Given the description of an element on the screen output the (x, y) to click on. 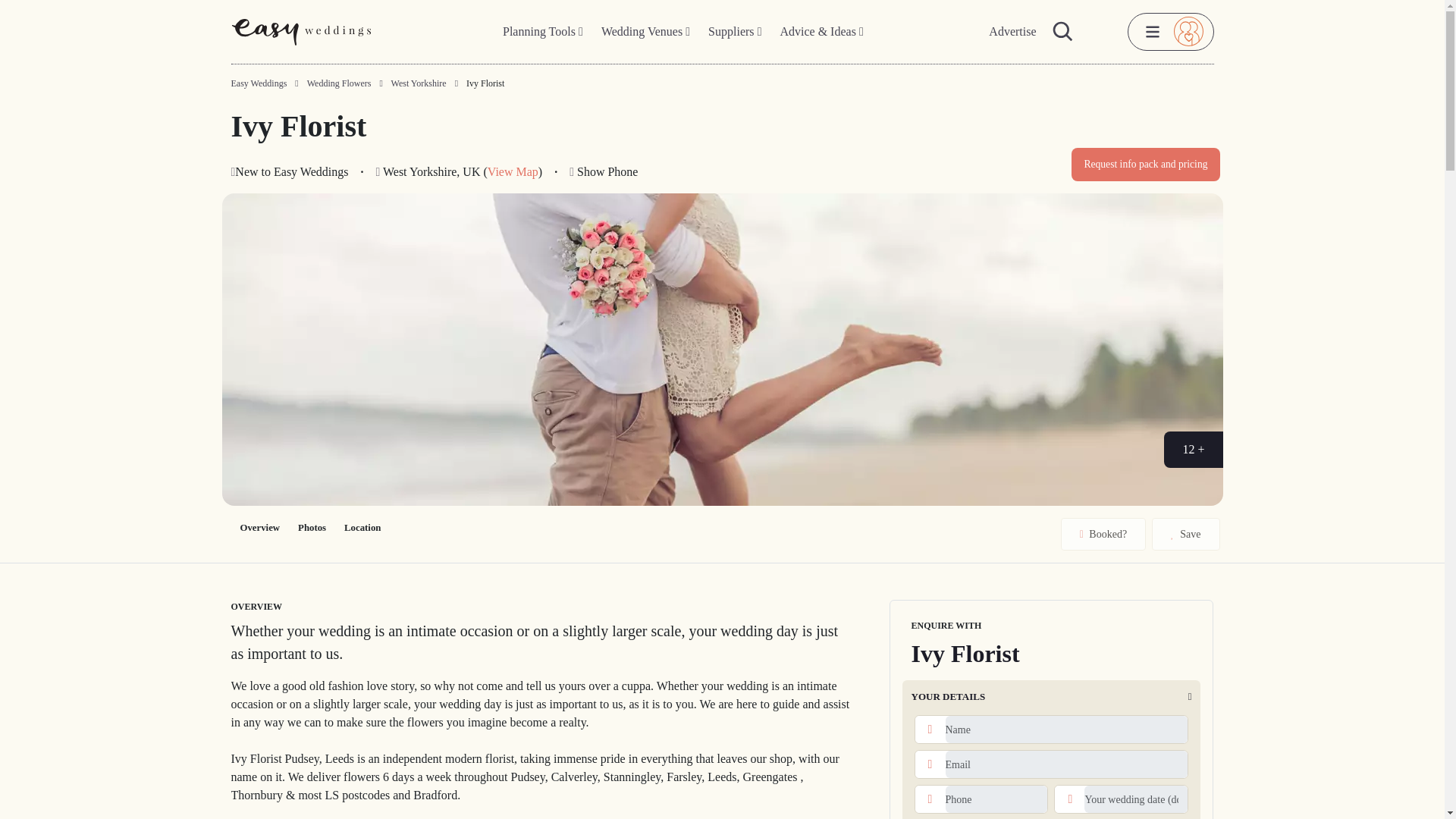
Suppliers (734, 31)
Location (362, 528)
Advertise (1012, 31)
Photos (311, 528)
Planning Tools (542, 31)
Overview (259, 528)
Request info pack and pricing (1145, 164)
View Map (512, 171)
Save (1185, 533)
Easy Weddings (258, 83)
